Given the description of an element on the screen output the (x, y) to click on. 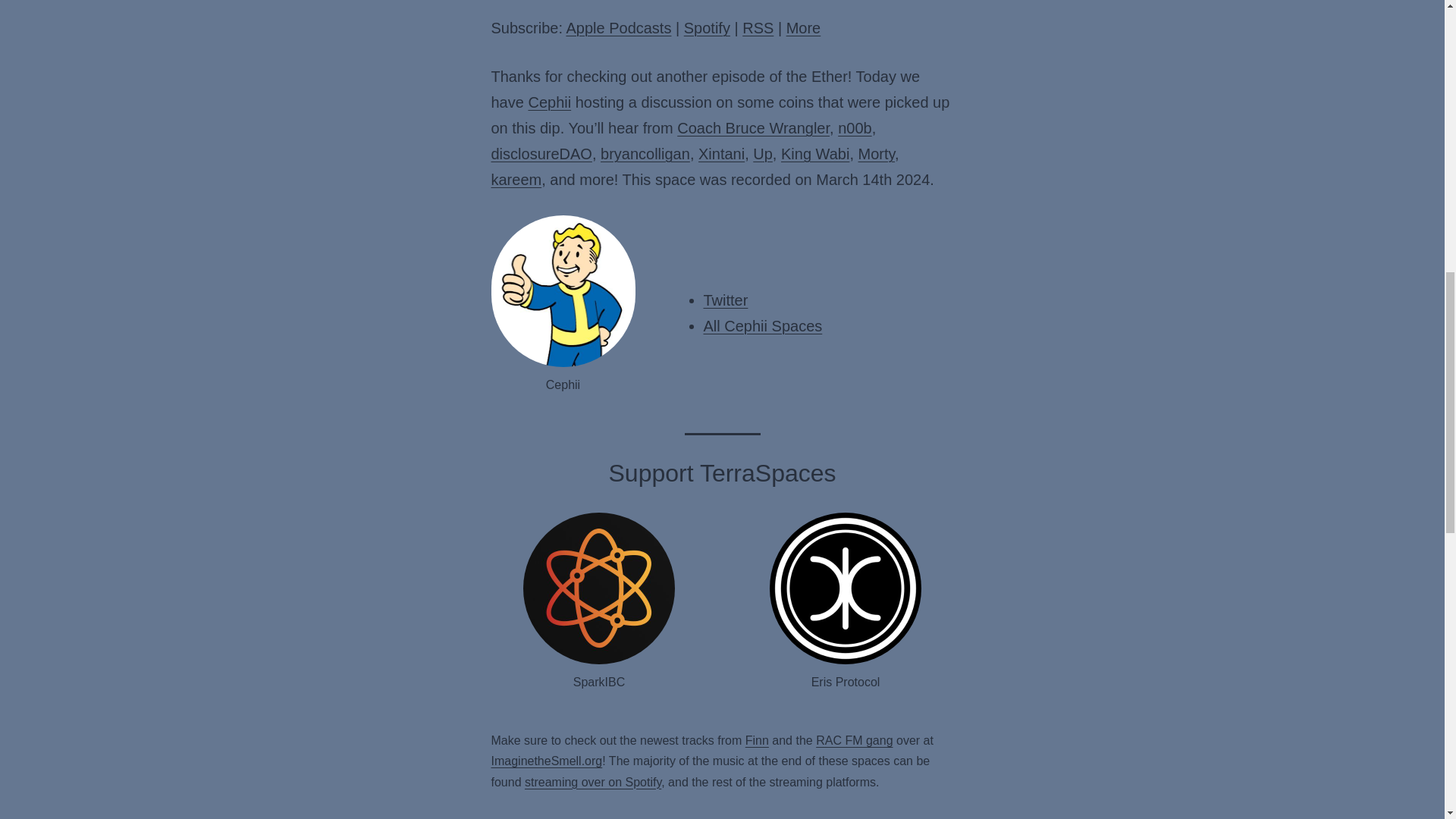
More (803, 27)
Subscribe on Spotify (707, 27)
Subscribe via RSS (757, 27)
Subscribe on Apple Podcasts (618, 27)
